Given the description of an element on the screen output the (x, y) to click on. 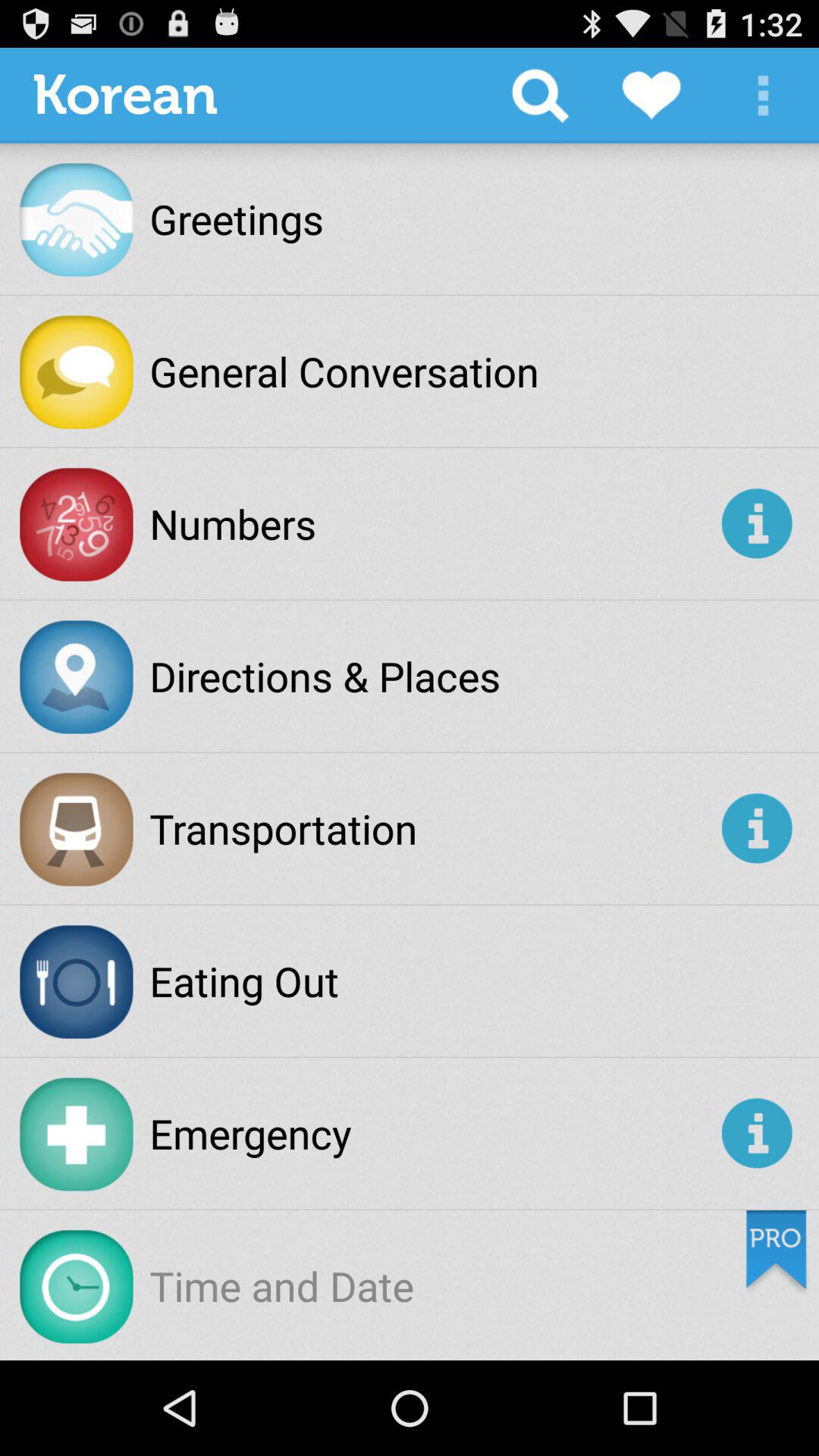
jump to greetings (236, 218)
